Given the description of an element on the screen output the (x, y) to click on. 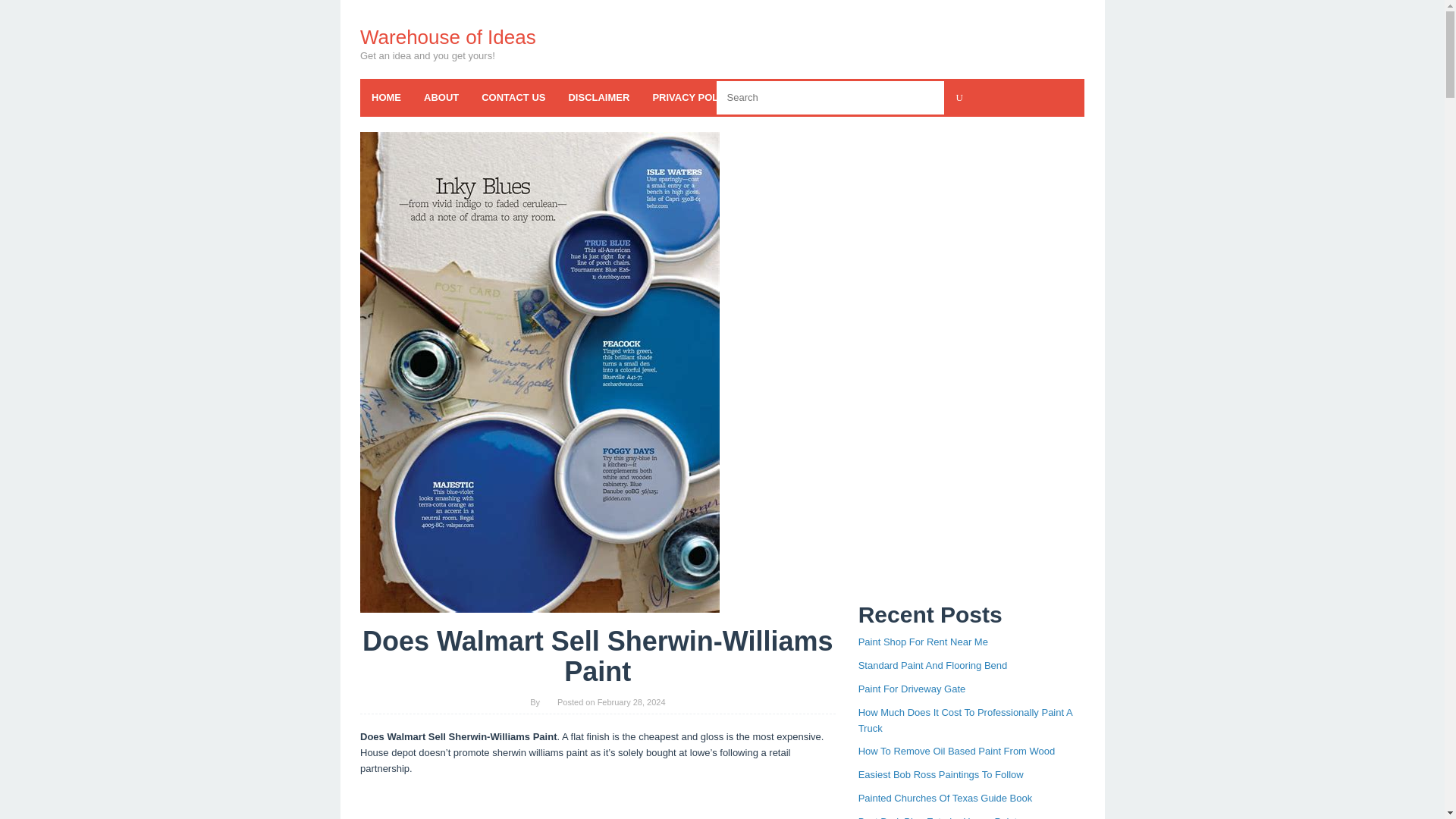
PRIVACY POLICY (692, 97)
Warehouse of Ideas (447, 36)
Best Dark Blue Exterior House Paint (938, 817)
HOME (385, 97)
Paint Shop For Rent Near Me (923, 641)
SITEMAP (910, 97)
Paint For Driveway Gate (912, 688)
How Much Does It Cost To Professionally Paint A Truck (965, 719)
How To Remove Oil Based Paint From Wood (957, 750)
Standard Paint And Flooring Bend (933, 665)
